Given the description of an element on the screen output the (x, y) to click on. 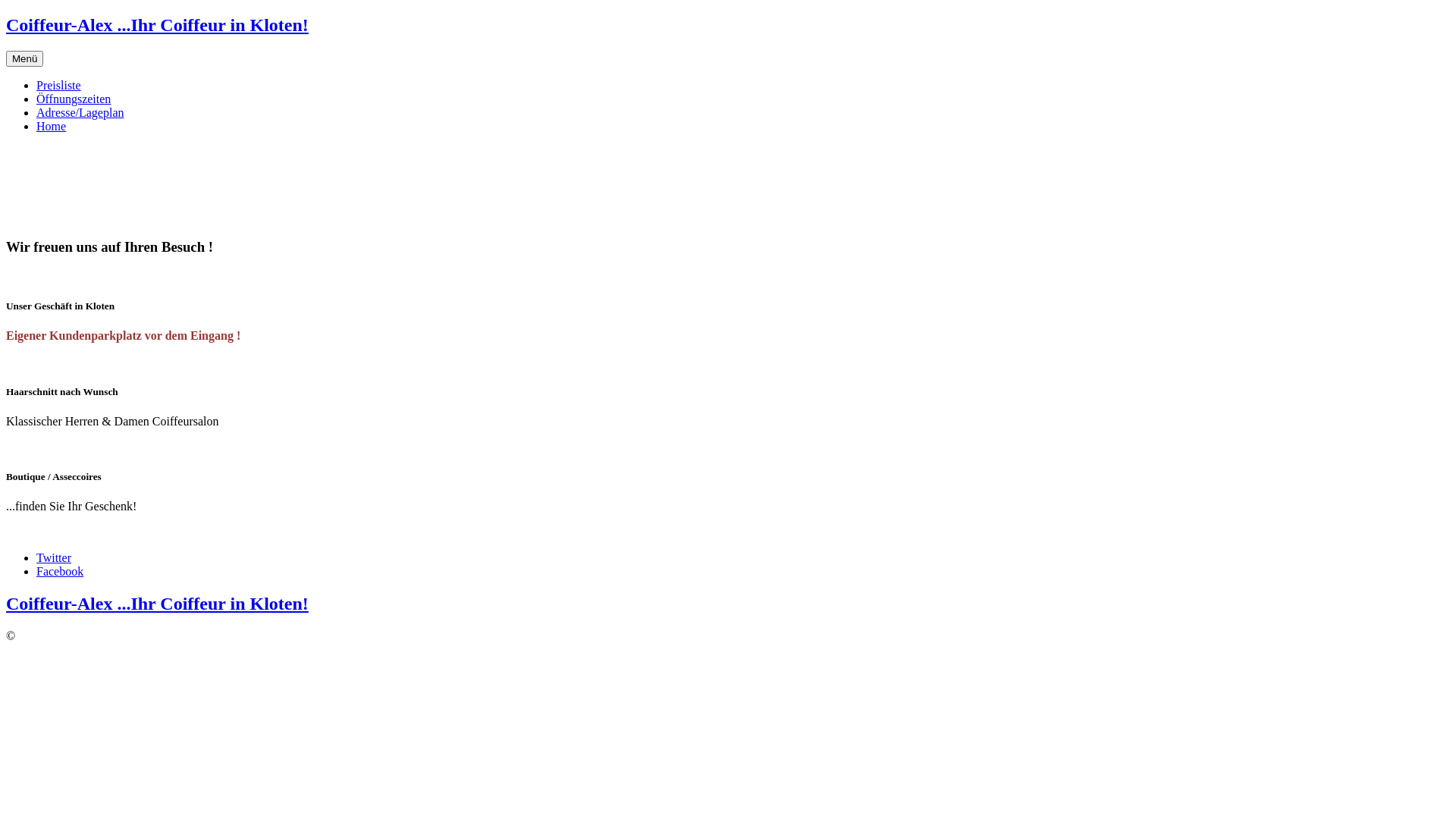
Coiffeur-Alex ...Ihr Coiffeur in Kloten! Element type: text (157, 603)
Coiffeur-Alex ...Ihr Coiffeur in Kloten! Element type: text (157, 24)
Home Element type: text (50, 125)
Facebook Element type: text (59, 570)
Twitter Element type: text (53, 557)
Adresse/Lageplan Element type: text (80, 112)
Preisliste Element type: text (58, 84)
